Given the description of an element on the screen output the (x, y) to click on. 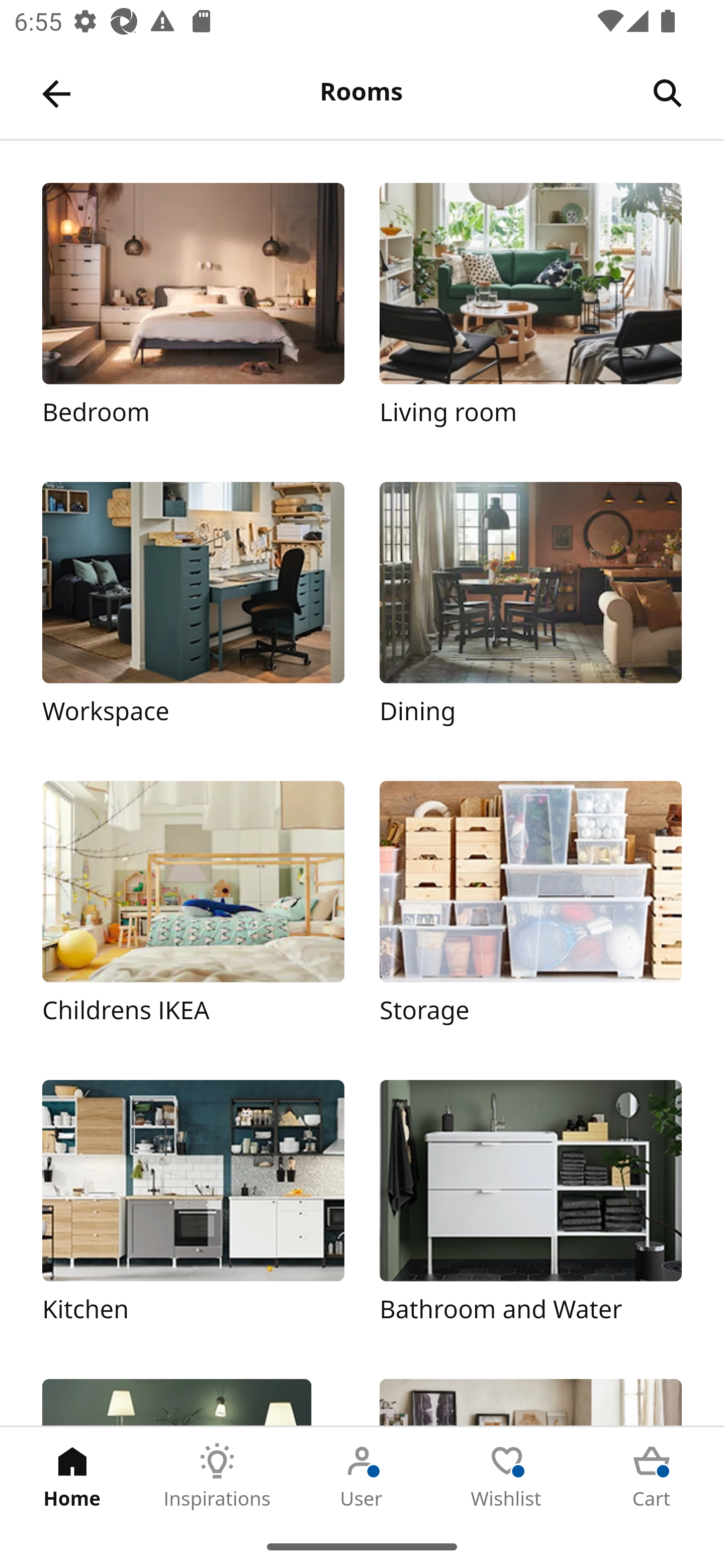
Bedroom (192, 314)
Living room (530, 314)
Workspace (192, 613)
Dining (530, 613)
Childrens IKEA (192, 912)
Storage (530, 912)
Kitchen (192, 1211)
Bathroom and Water (530, 1211)
Home
Tab 1 of 5 (72, 1476)
Inspirations
Tab 2 of 5 (216, 1476)
User
Tab 3 of 5 (361, 1476)
Wishlist
Tab 4 of 5 (506, 1476)
Cart
Tab 5 of 5 (651, 1476)
